Given the description of an element on the screen output the (x, y) to click on. 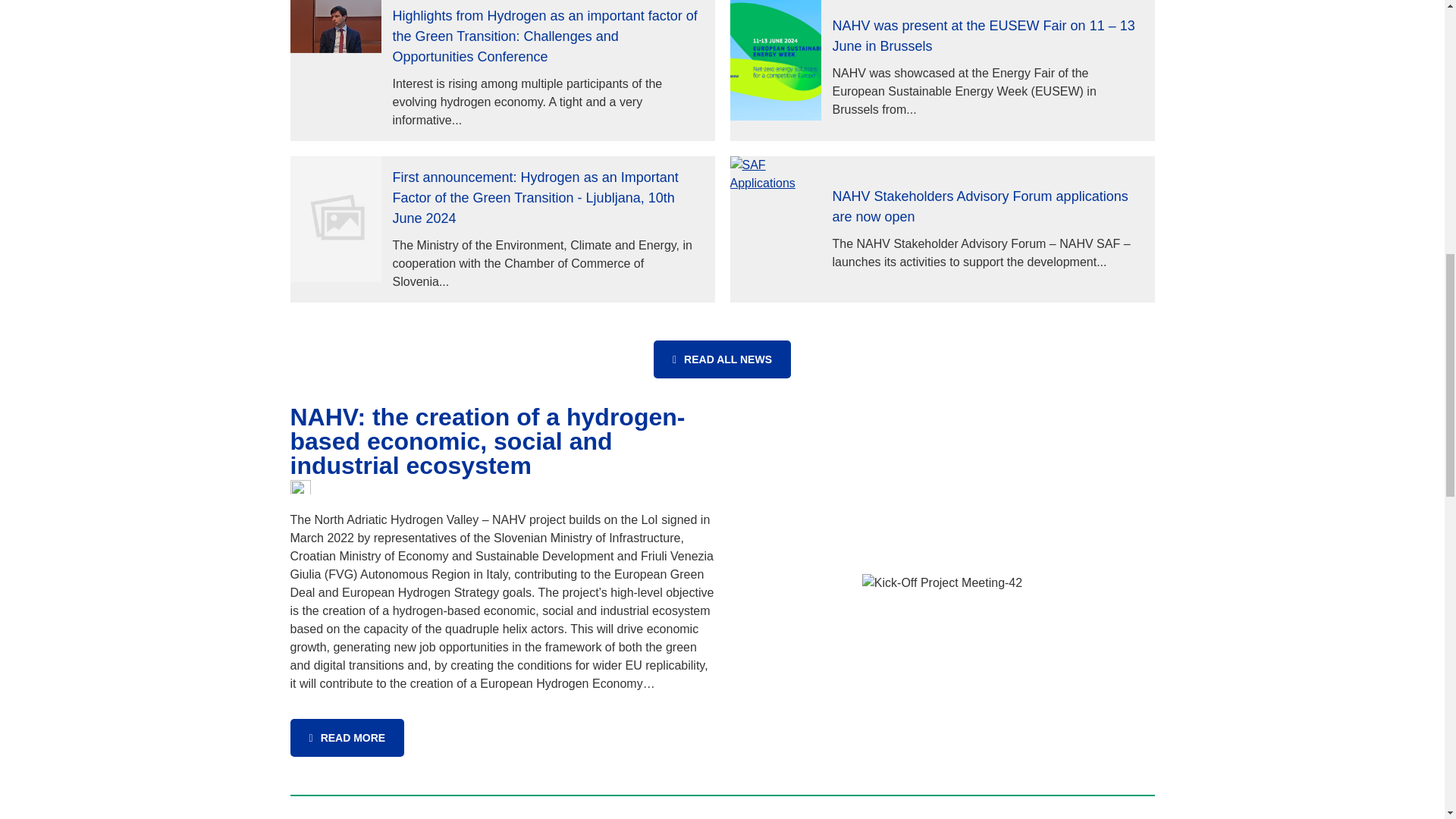
Kick-Off Project Meeting-42 (941, 583)
NAHV Stakeholders Advisory Forum applications are now open (987, 206)
